Given the description of an element on the screen output the (x, y) to click on. 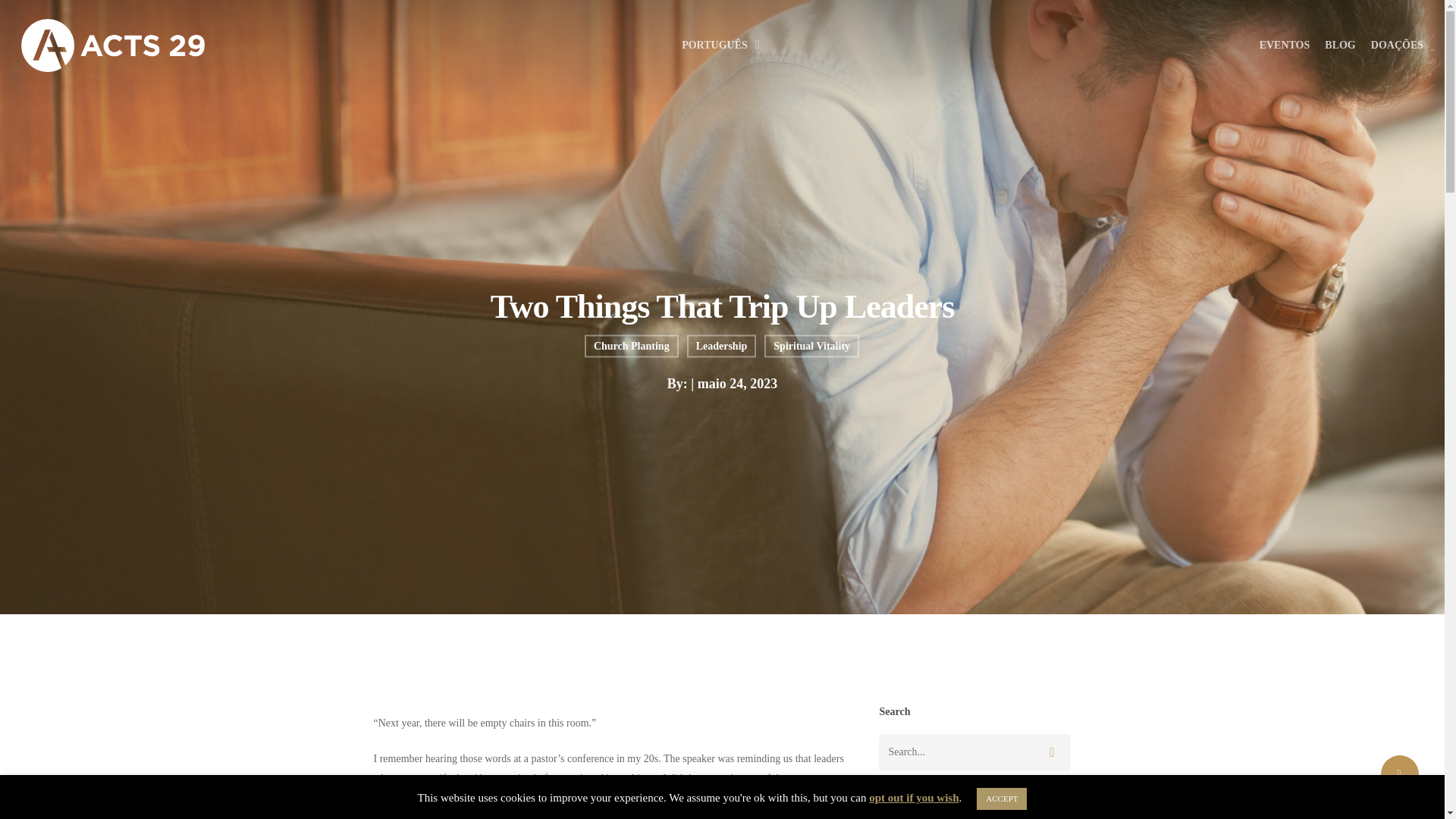
Spiritual Vitality (811, 356)
Search for: (974, 751)
EVENTOS (1284, 44)
Church Planting (631, 358)
Leadership (722, 357)
